Given the description of an element on the screen output the (x, y) to click on. 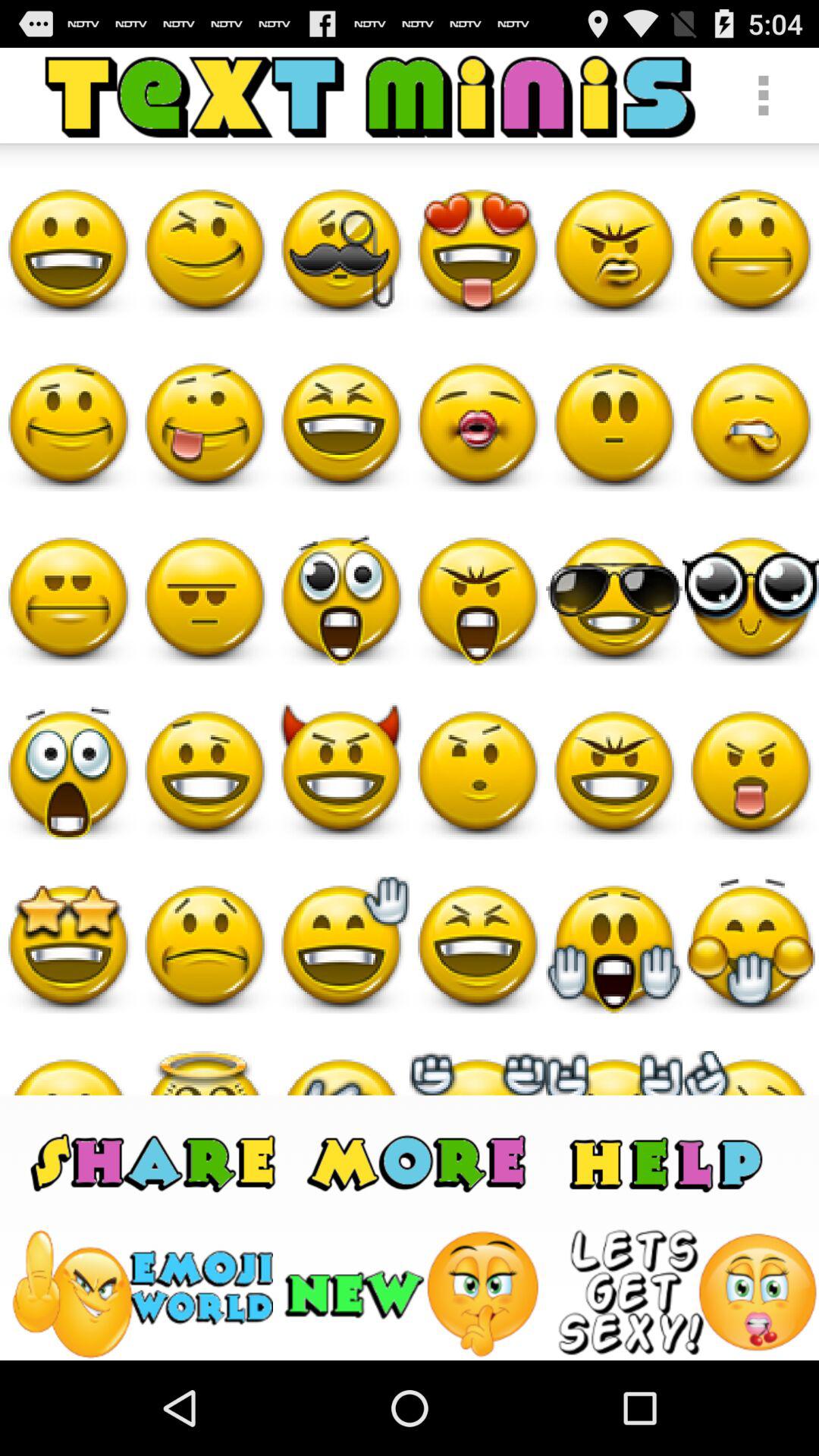
share the options (419, 1161)
